Given the description of an element on the screen output the (x, y) to click on. 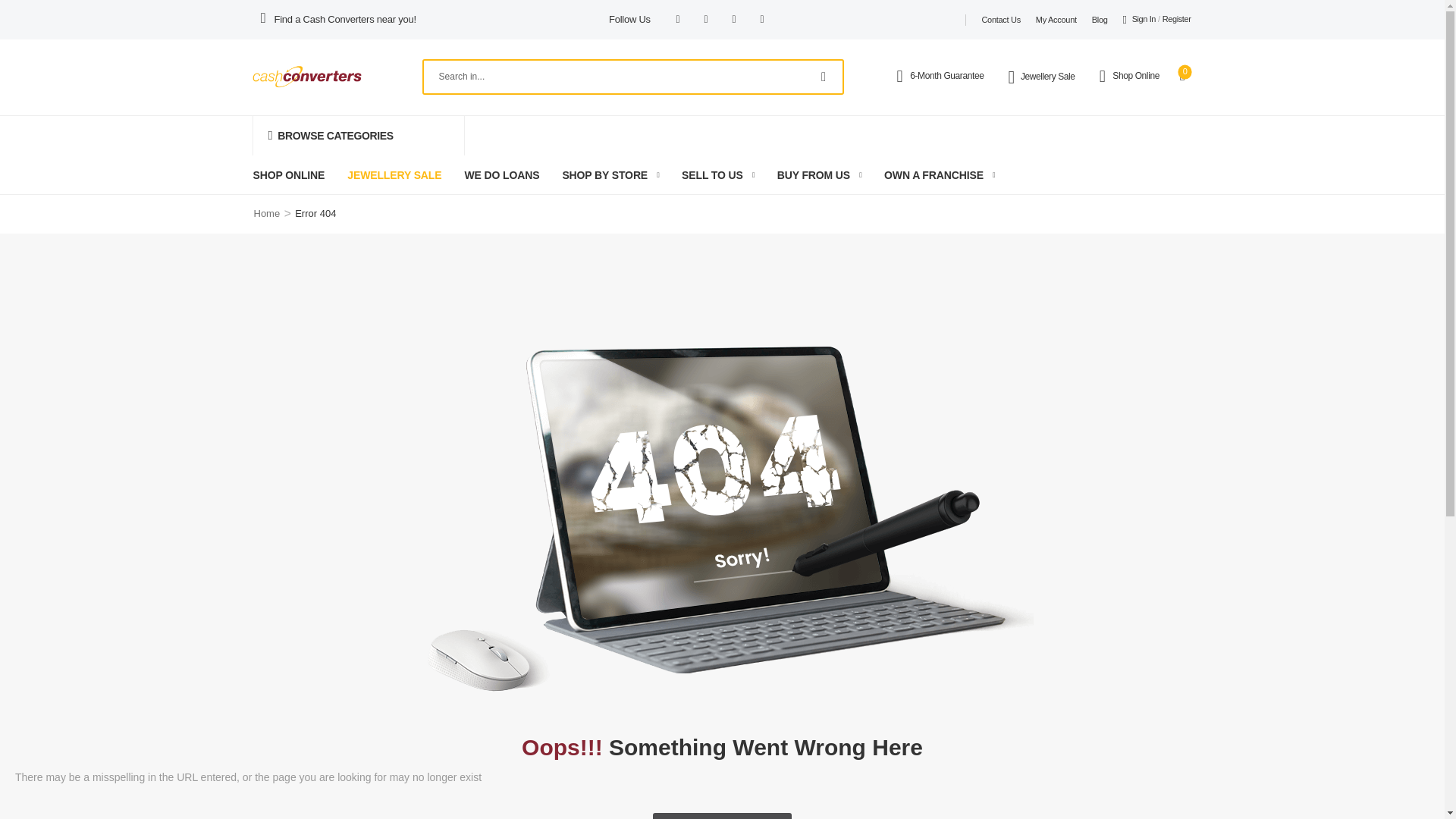
instagram (705, 19)
Shop Online (1141, 76)
facebook (677, 19)
Register (1176, 19)
Sign In (1139, 19)
My Account (1056, 19)
BROWSE CATEGORIES (357, 135)
youtube (761, 19)
linkedin (733, 19)
Jewellery Sale (1054, 76)
Find a Cash Converters near you! (345, 19)
6-Month Guarantee (952, 76)
Contact Us (1000, 19)
Blog (1100, 19)
